Given the description of an element on the screen output the (x, y) to click on. 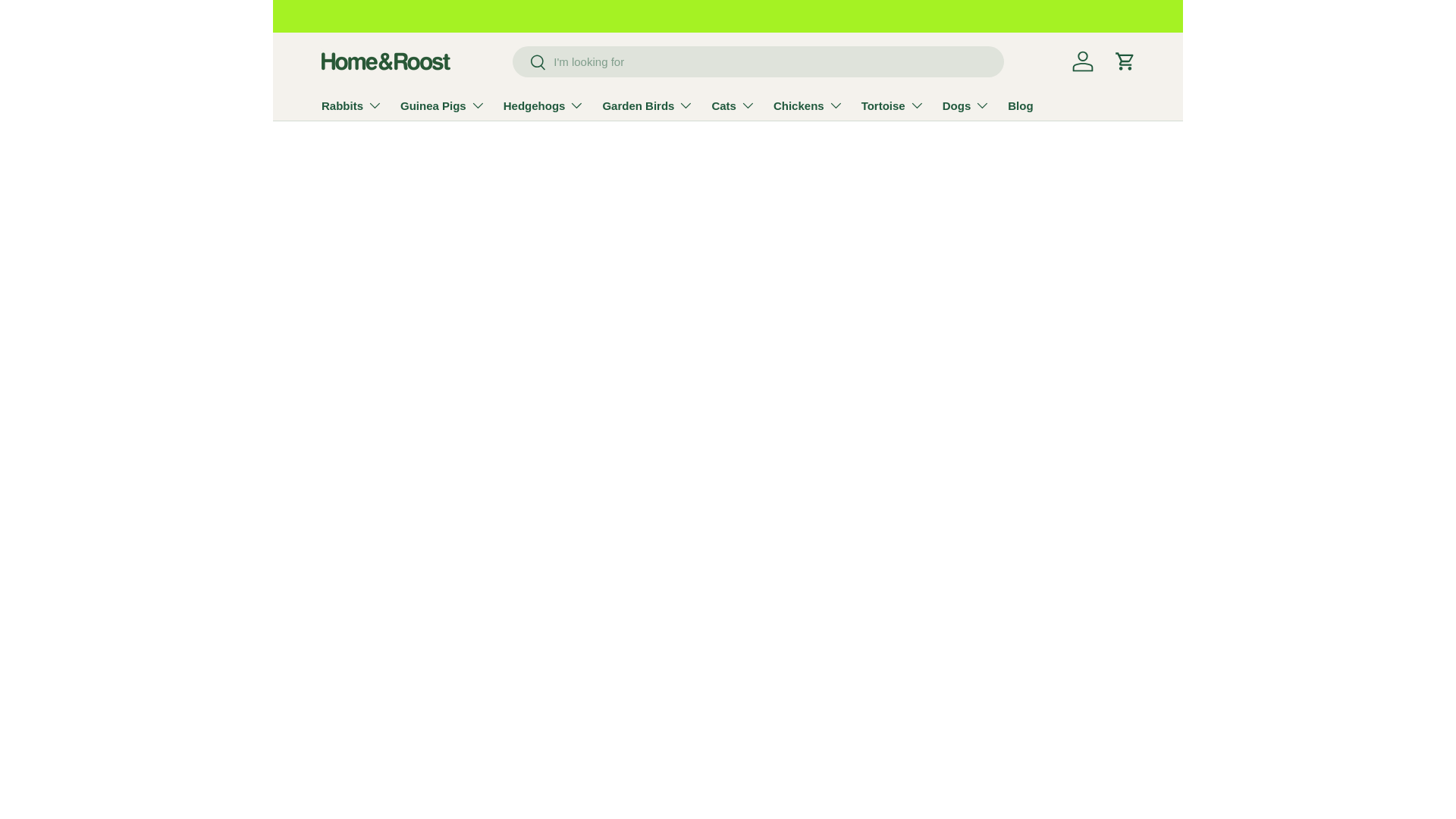
Guinea Pigs (442, 105)
Cart (1124, 61)
Skip to content (69, 22)
Search (529, 63)
Rabbits (351, 105)
Log in (1082, 61)
